Given the description of an element on the screen output the (x, y) to click on. 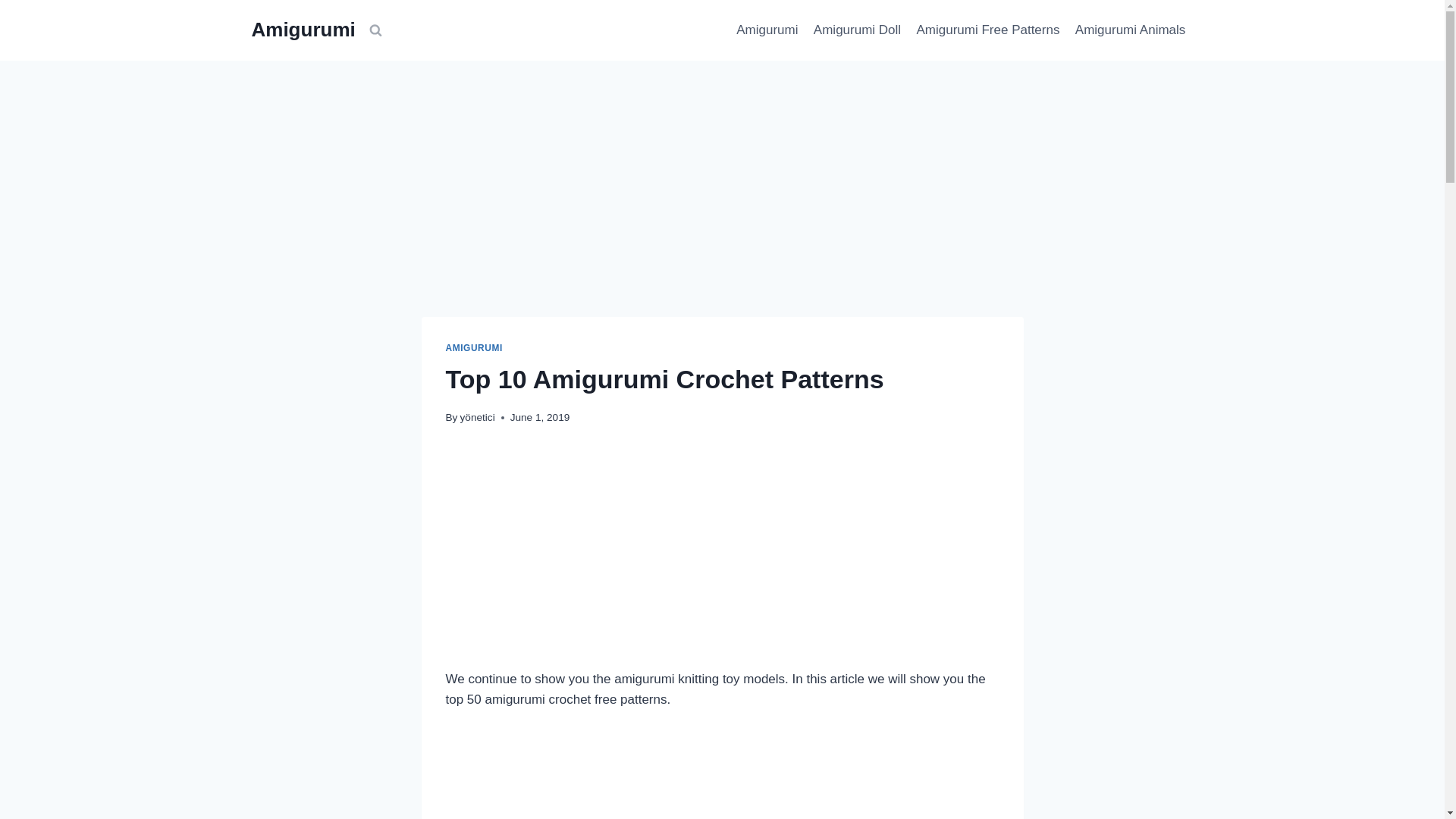
Amigurumi Doll (857, 30)
Amigurumi (303, 29)
AMIGURUMI (473, 347)
Advertisement (721, 556)
Amigurumi Animals (1130, 30)
Amigurumi (767, 30)
Advertisement (721, 776)
Amigurumi Free Patterns (987, 30)
